Given the description of an element on the screen output the (x, y) to click on. 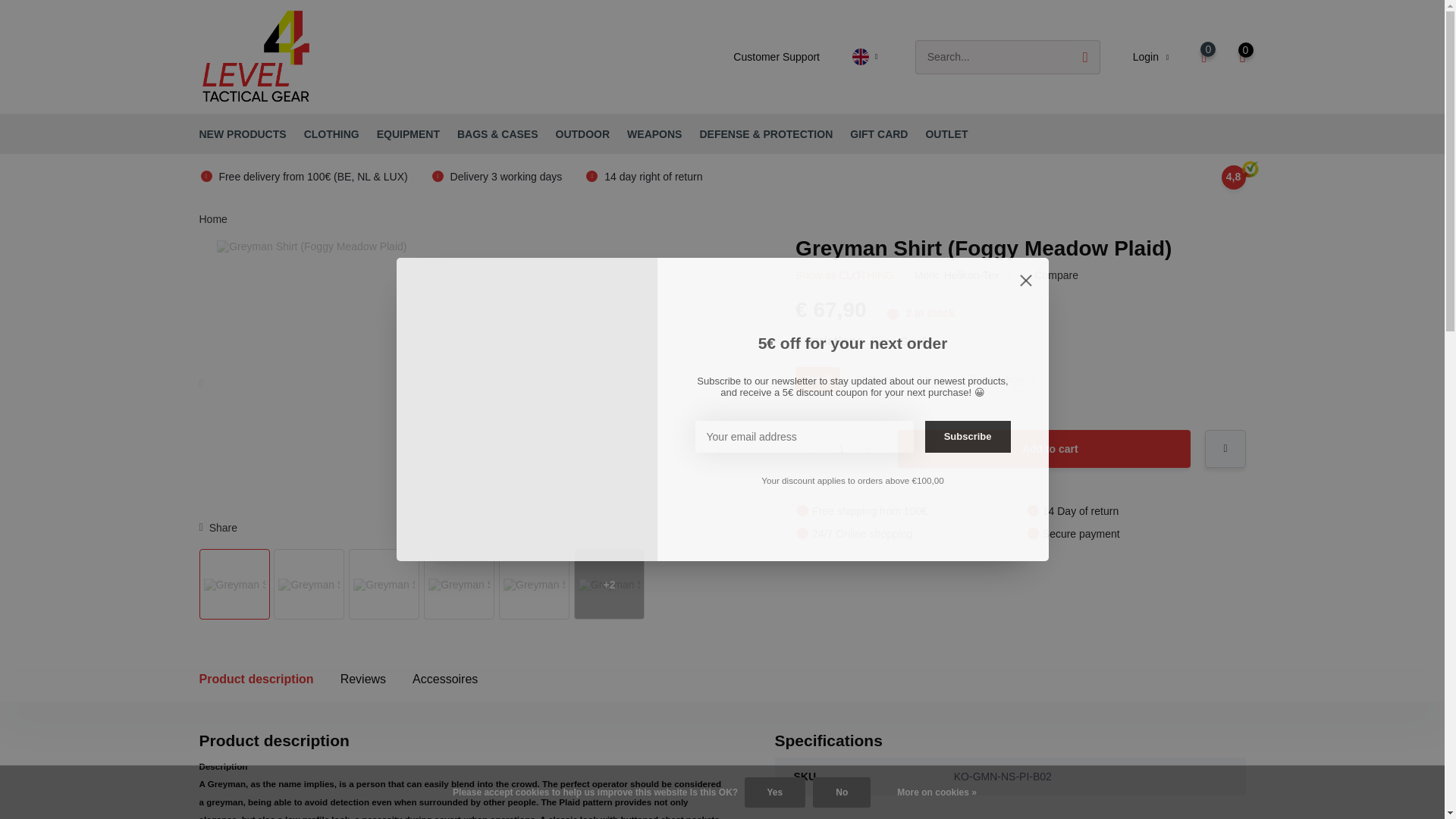
NEW PRODUCTS (241, 133)
CLOTHING  (1019, 386)
NEW PRODUCTS (331, 133)
Customer Support (241, 133)
CLOTHING (776, 56)
1 (331, 133)
Login (839, 448)
